Given the description of an element on the screen output the (x, y) to click on. 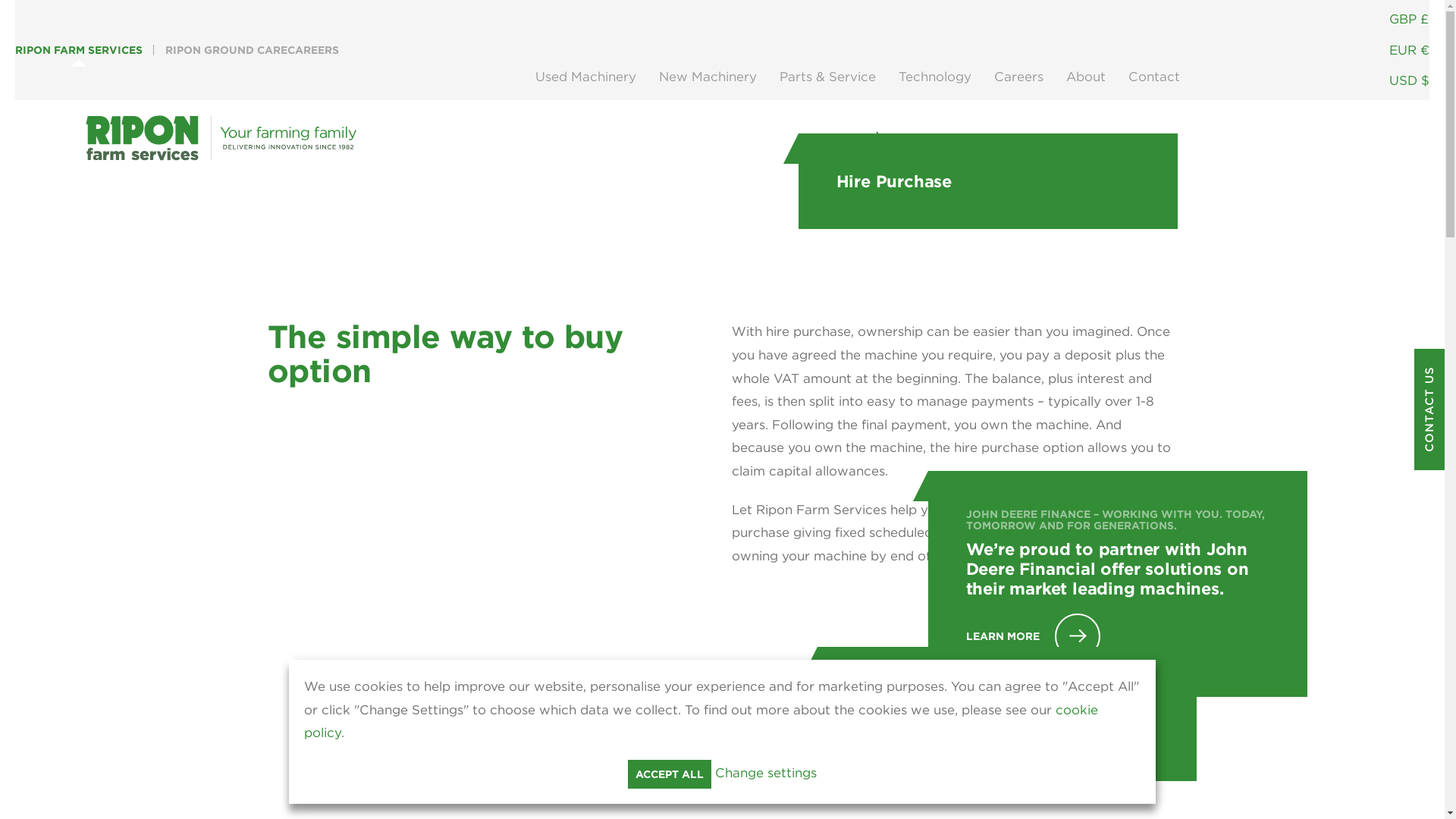
CAREERS (312, 50)
Used Machinery (585, 76)
RIPON FARM SERVICES (78, 50)
RIPON GROUND CARE (225, 50)
New Machinery (707, 76)
